Given the description of an element on the screen output the (x, y) to click on. 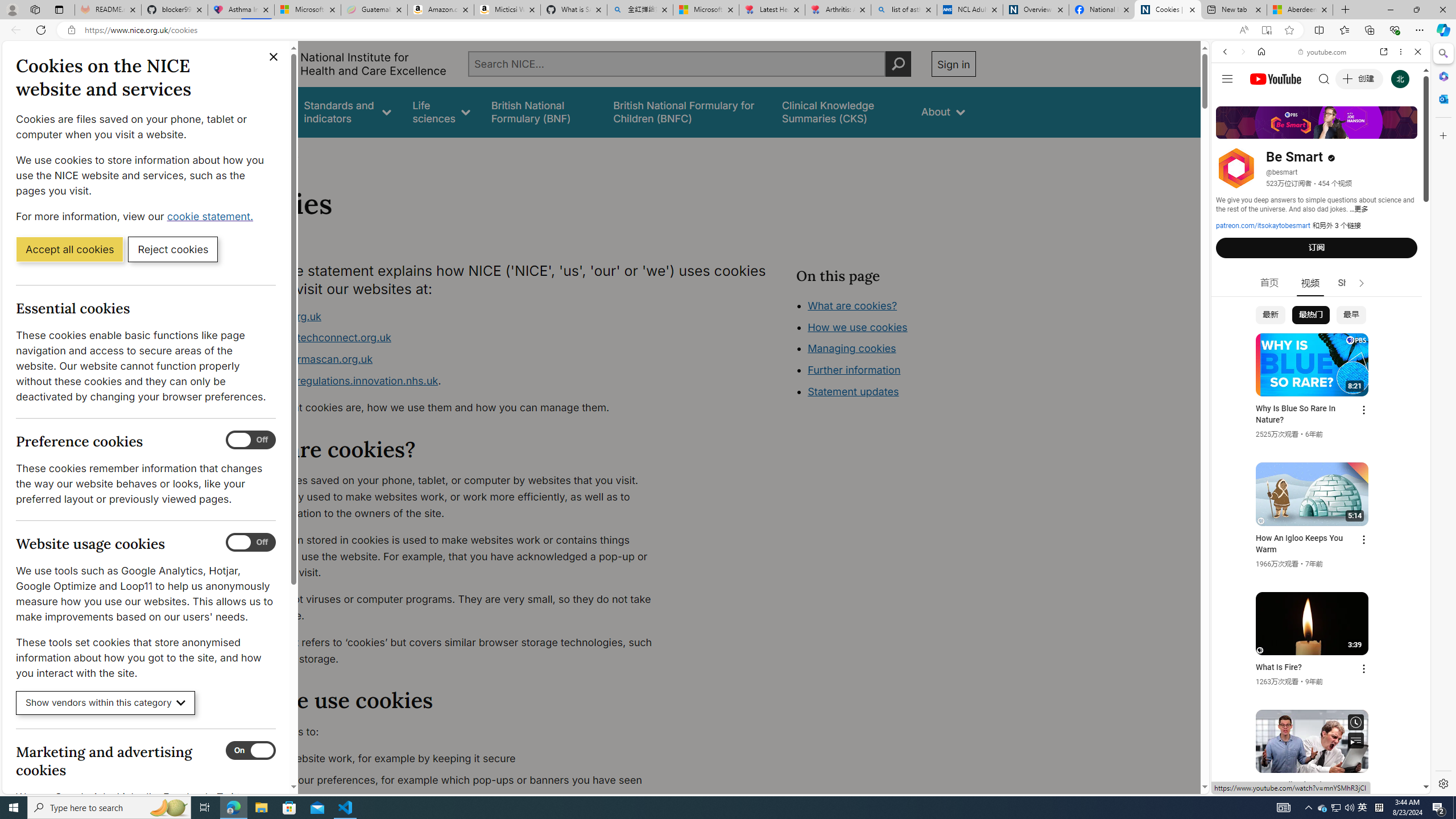
Aberdeen, Hong Kong SAR hourly forecast | Microsoft Weather (1300, 9)
youtube.com (1322, 51)
AutomationID: right (1361, 283)
